Given the description of an element on the screen output the (x, y) to click on. 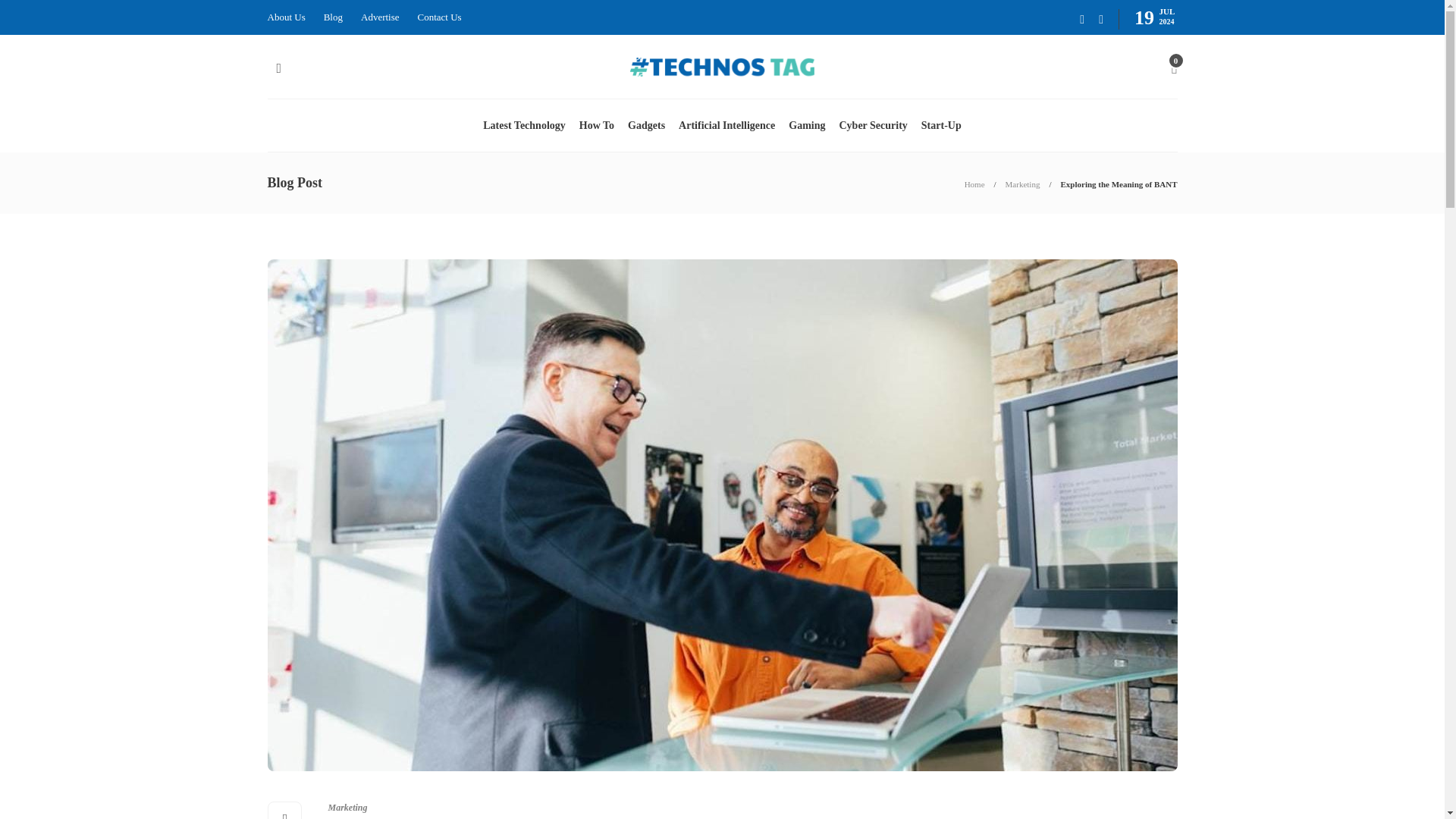
Exploring the Meaning of BANT (1117, 184)
Home (974, 184)
Contact Us (439, 17)
Marketing (1023, 184)
Latest Technology (524, 125)
Advertise (379, 17)
Home (974, 184)
Cyber Security (872, 125)
Artificial Intelligence (726, 125)
About Us (285, 17)
